Given the description of an element on the screen output the (x, y) to click on. 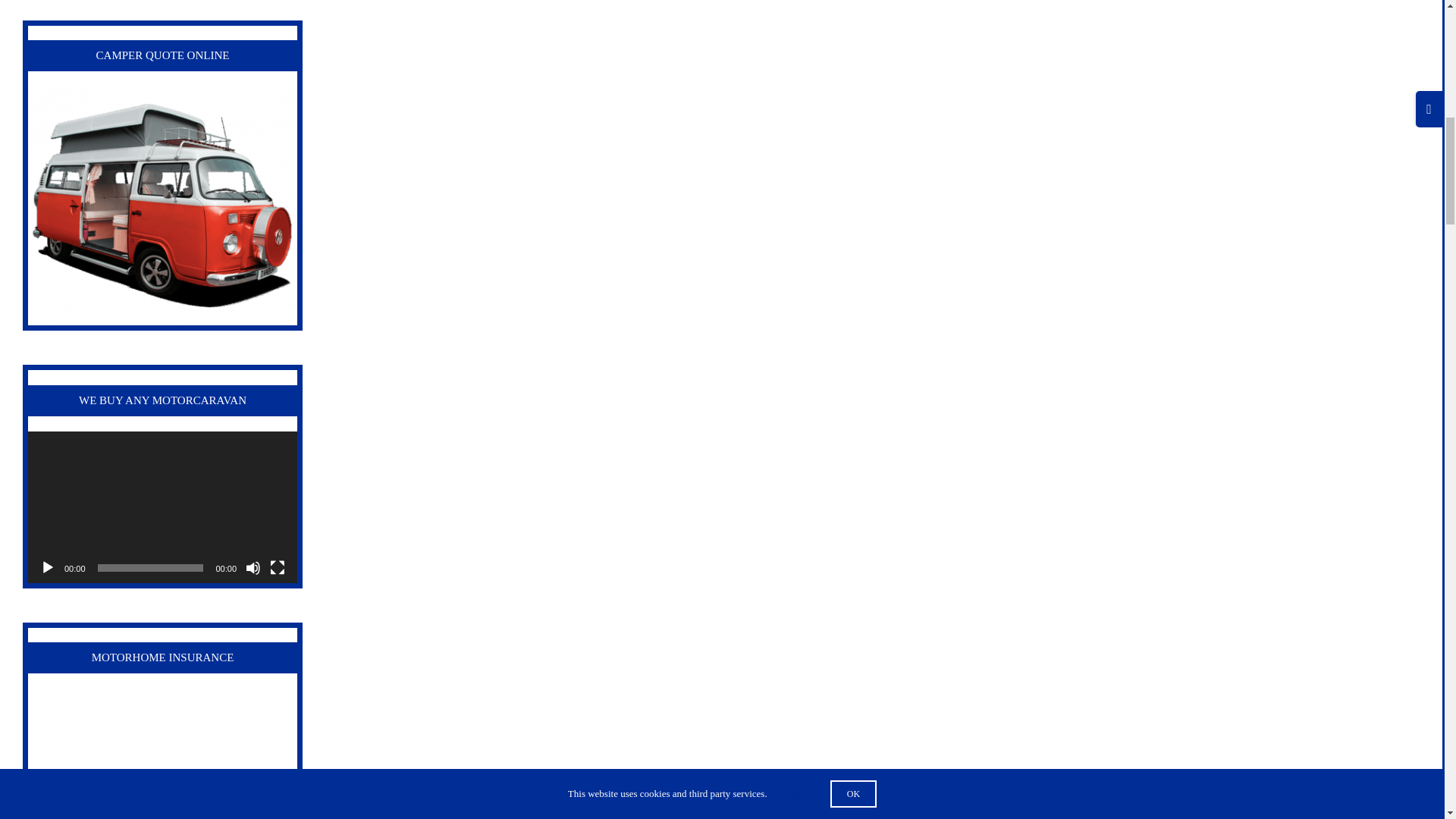
Mute (253, 567)
Play (47, 567)
MOTORHOME INSURANCE (162, 753)
Fullscreen (277, 567)
CAMPER QUOTE ONLINE (162, 205)
